Given the description of an element on the screen output the (x, y) to click on. 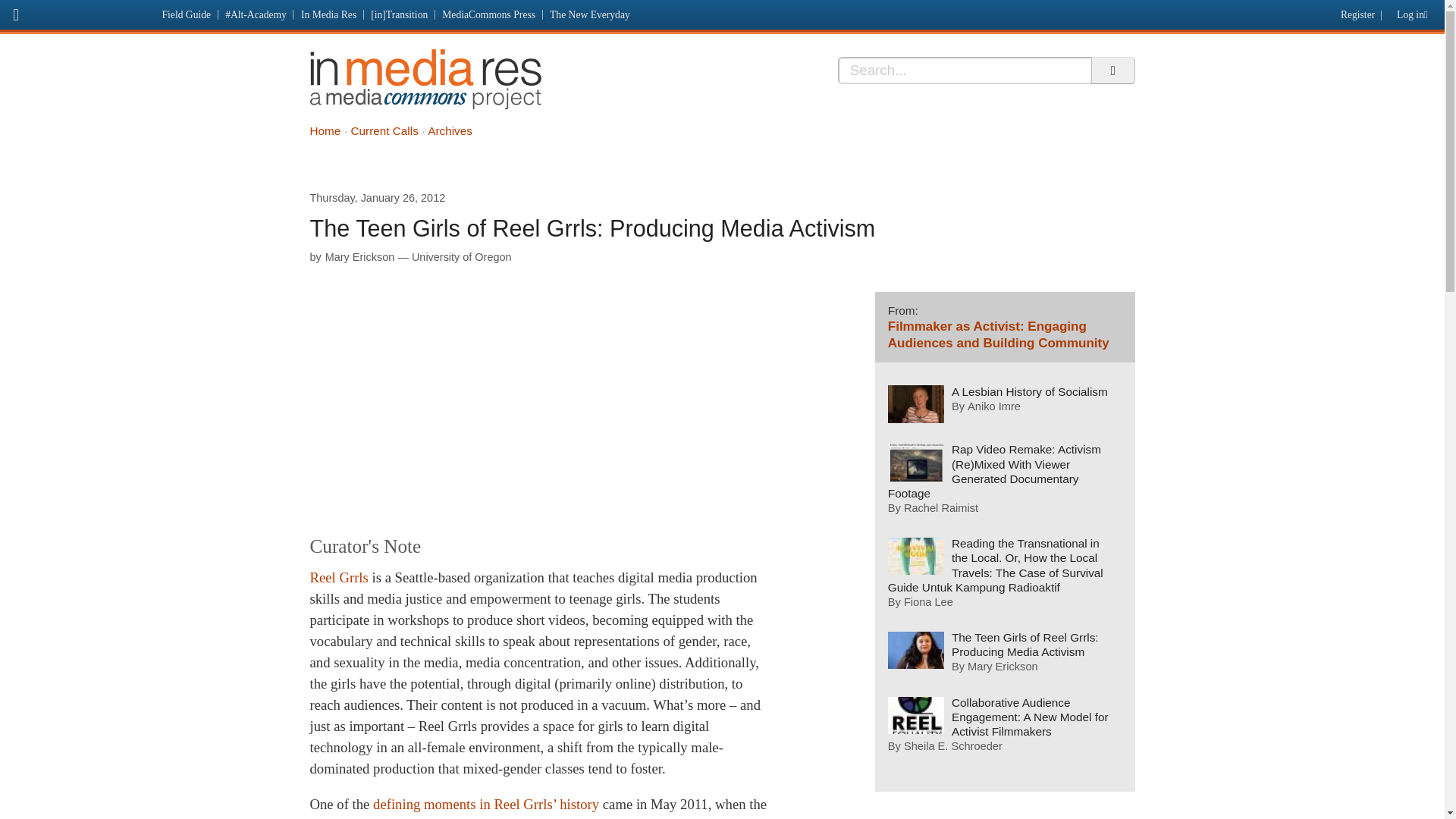
Reel Grrls (338, 577)
In Media Res (328, 14)
Log in (1414, 11)
Home (324, 130)
Front page (77, 11)
Field Guide (186, 14)
Current Calls (384, 130)
Mary Erickson (359, 256)
In Media Res (424, 79)
